Given the description of an element on the screen output the (x, y) to click on. 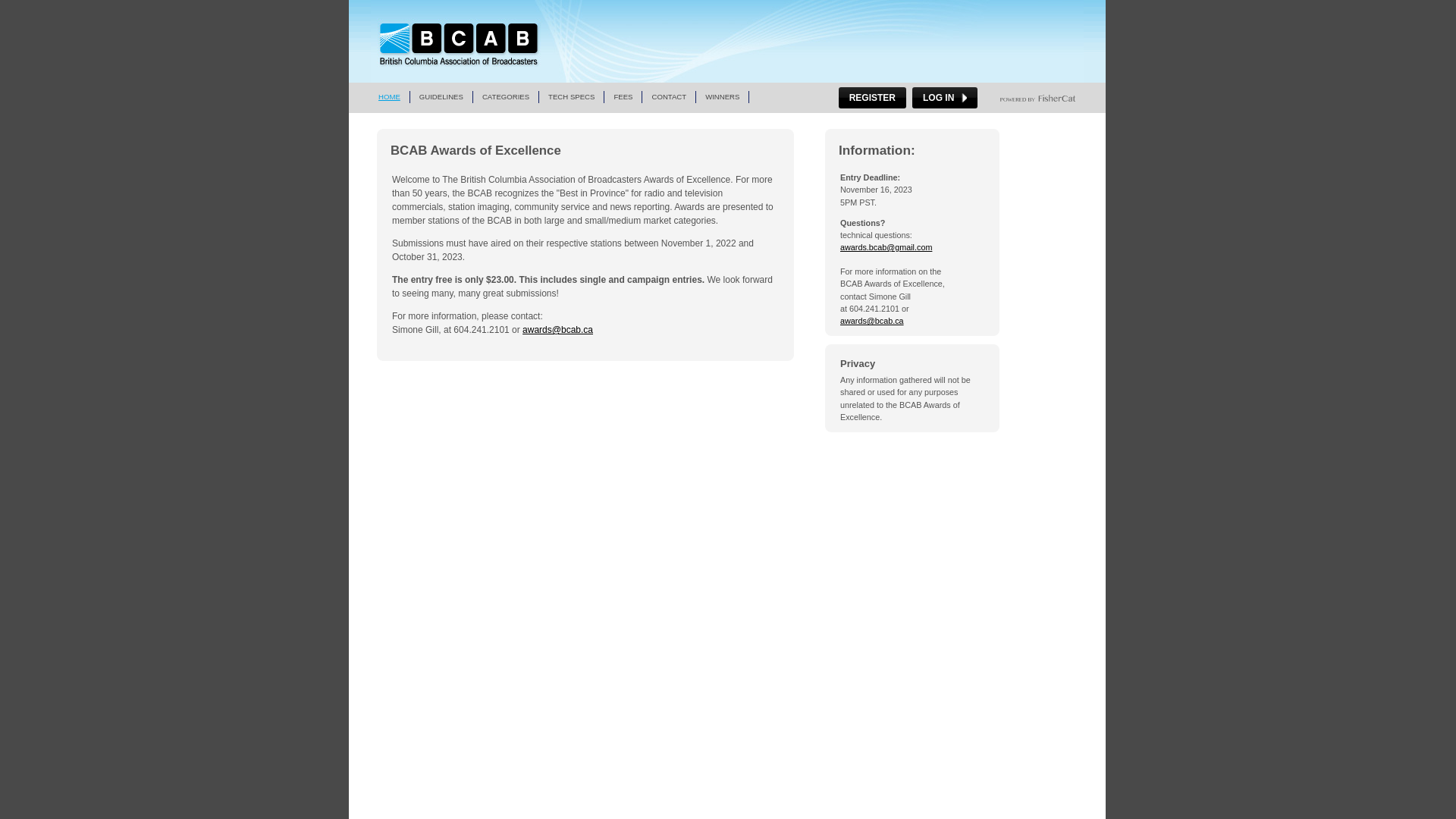
awards.bcab@gmail.com Element type: text (885, 246)
CATEGORIES Element type: text (506, 97)
GUIDELINES Element type: text (441, 97)
awards@bcab.ca Element type: text (557, 329)
REGISTER Element type: text (872, 97)
FEES Element type: text (623, 97)
awards@bcab.ca Element type: text (871, 320)
CONTACT Element type: text (669, 97)
WINNERS Element type: text (722, 97)
HOME Element type: text (389, 97)
LOG IN      Element type: text (944, 97)
TECH SPECS Element type: text (571, 97)
